Given the description of an element on the screen output the (x, y) to click on. 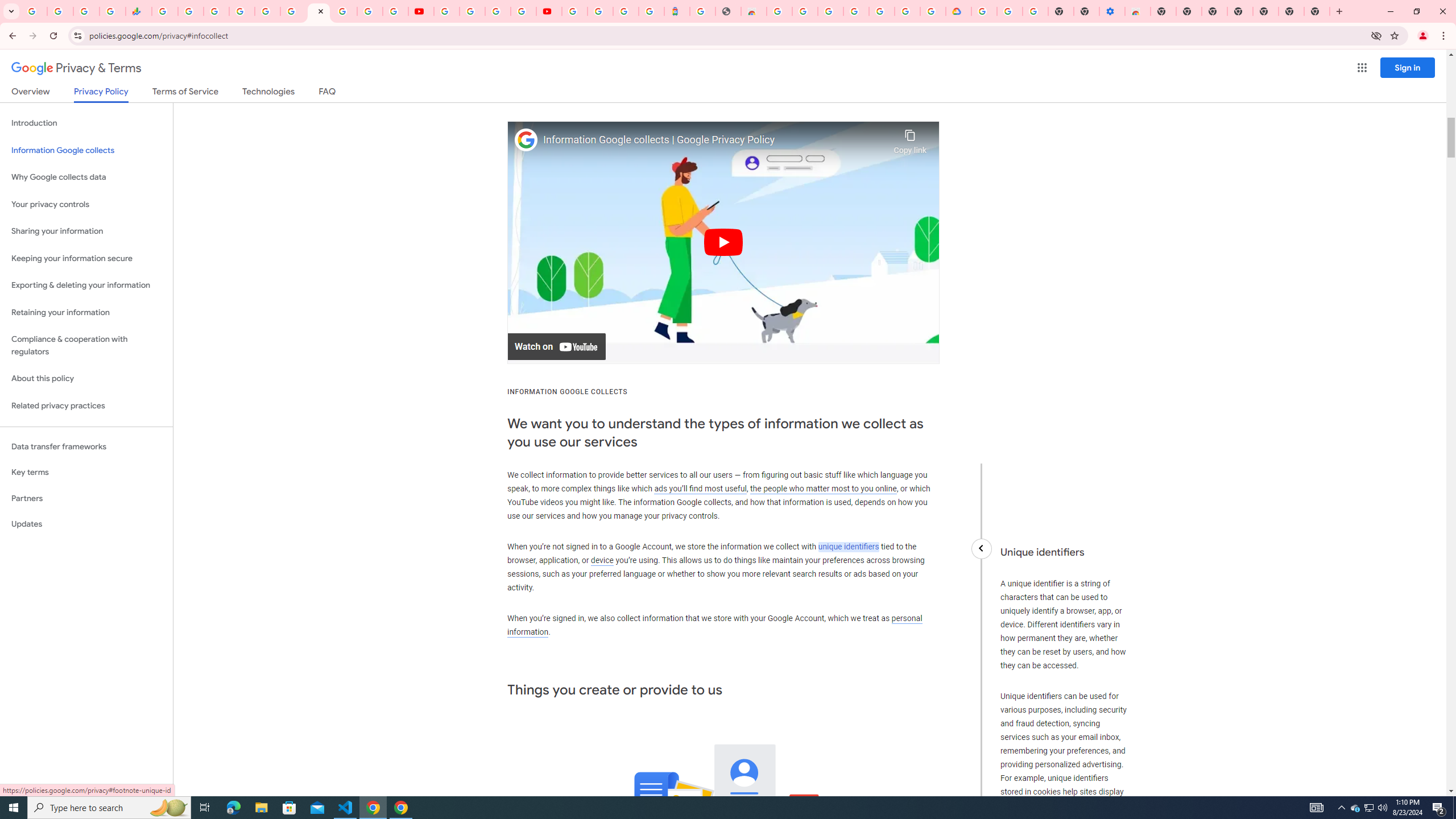
Create your Google Account (497, 11)
Atour Hotel - Google hotels (676, 11)
New Tab (1316, 11)
Google Account Help (472, 11)
Information Google collects (86, 150)
Why Google collects data (86, 176)
Retaining your information (86, 312)
Ad Settings (804, 11)
Related privacy practices (86, 405)
